Given the description of an element on the screen output the (x, y) to click on. 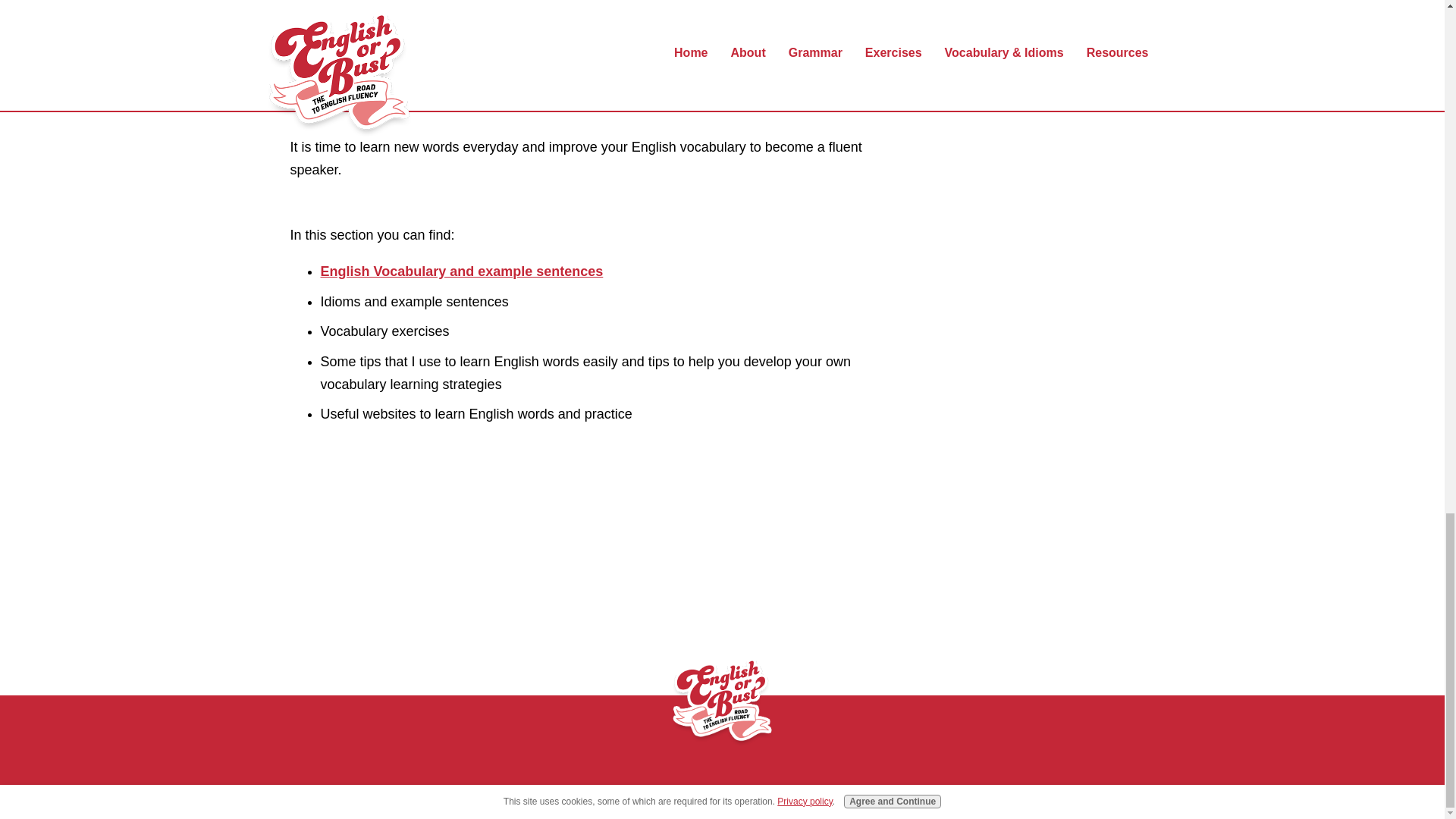
English Vocabulary and example sentences (461, 271)
